Given the description of an element on the screen output the (x, y) to click on. 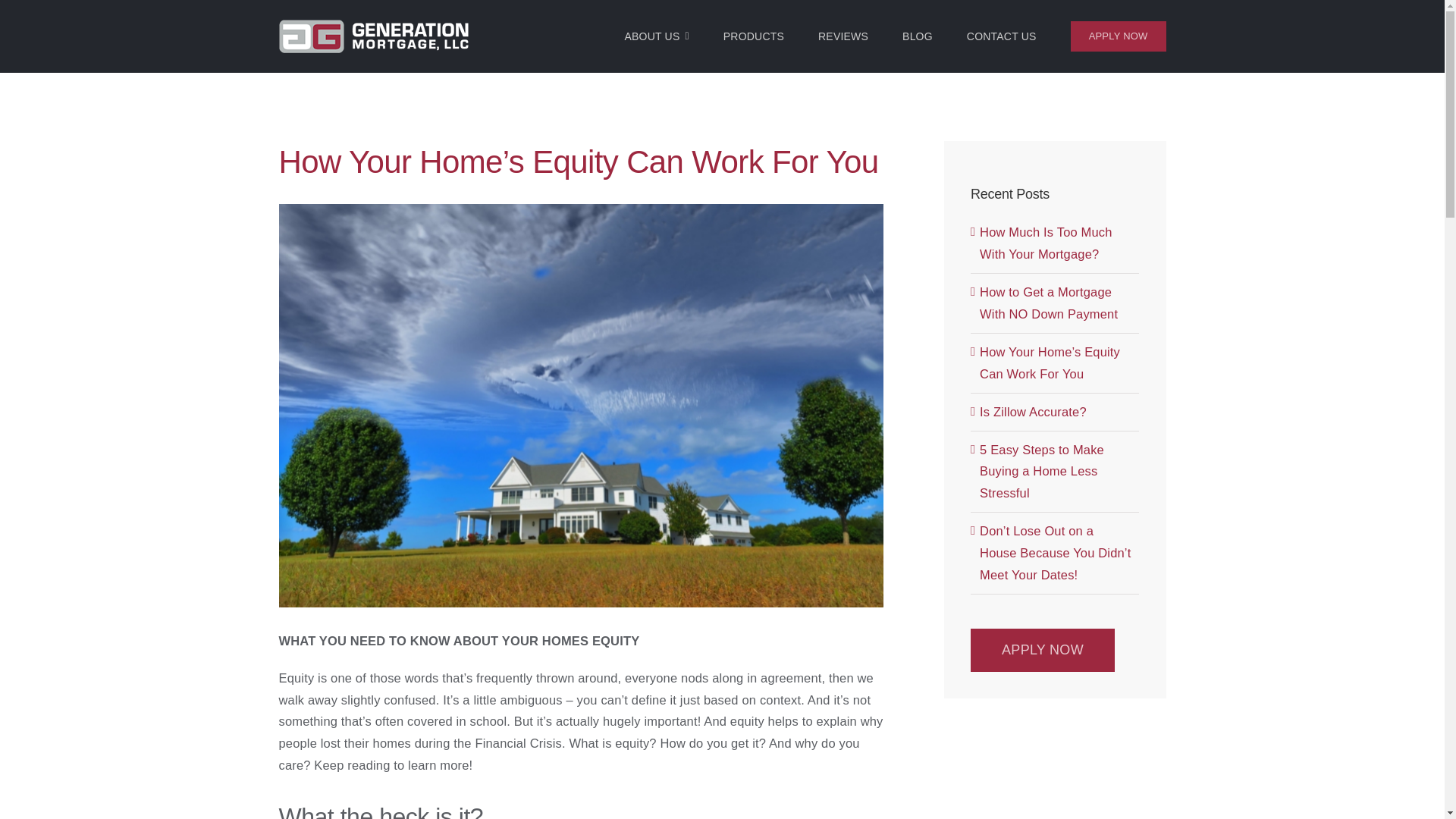
How to Get a Mortgage With NO Down Payment (1048, 303)
CONTACT US (1001, 36)
Is Zillow Accurate? (1032, 411)
How Much Is Too Much With Your Mortgage? (1045, 243)
APPLY NOW (1043, 649)
APPLY NOW (1118, 36)
5 Easy Steps to Make Buying a Home Less Stressful (1041, 471)
